Given the description of an element on the screen output the (x, y) to click on. 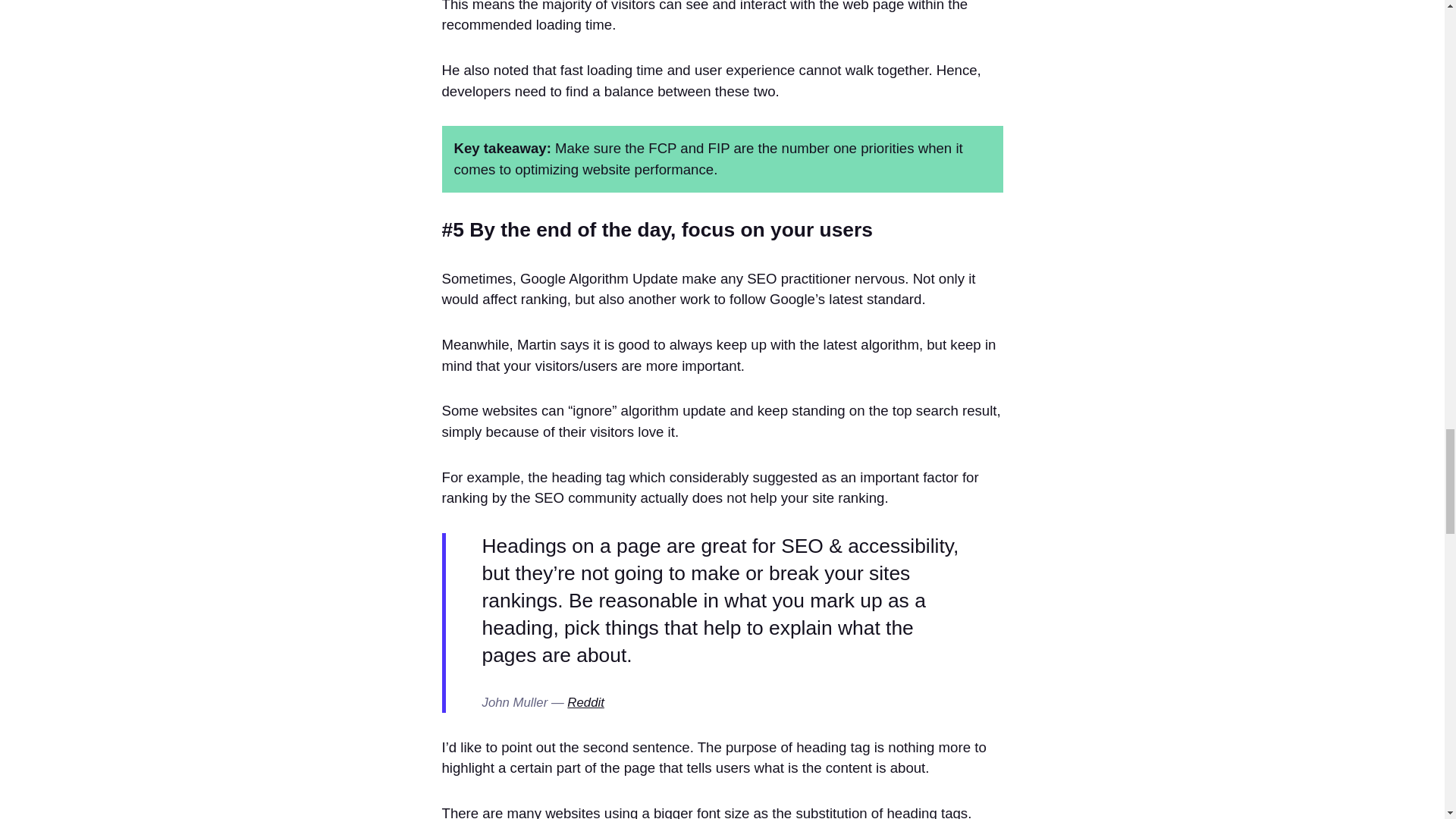
Reddit (585, 702)
